Given the description of an element on the screen output the (x, y) to click on. 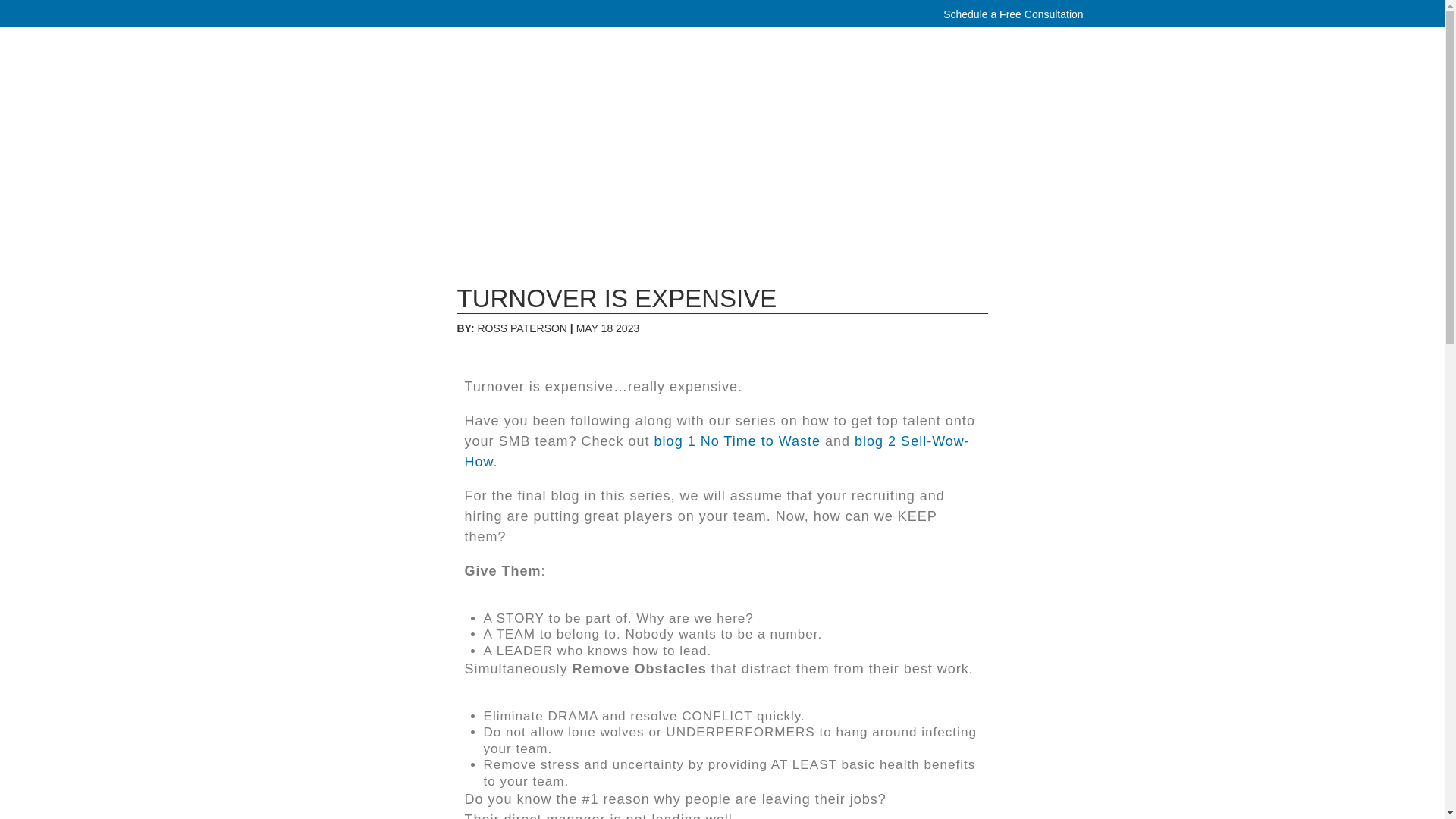
SOLUTIONS (727, 81)
ROSS PATERSON (522, 328)
CONTACT (1046, 81)
blog 1 No Time to Waste (737, 441)
Schedule a Free Consultation (1014, 14)
MAY 18 2023 (608, 328)
LESSONS (815, 81)
RESULTS (895, 81)
blog 2 Sell-Wow-How (716, 451)
HOME (563, 81)
EVENTS (970, 81)
ABOUT US (635, 81)
